Given the description of an element on the screen output the (x, y) to click on. 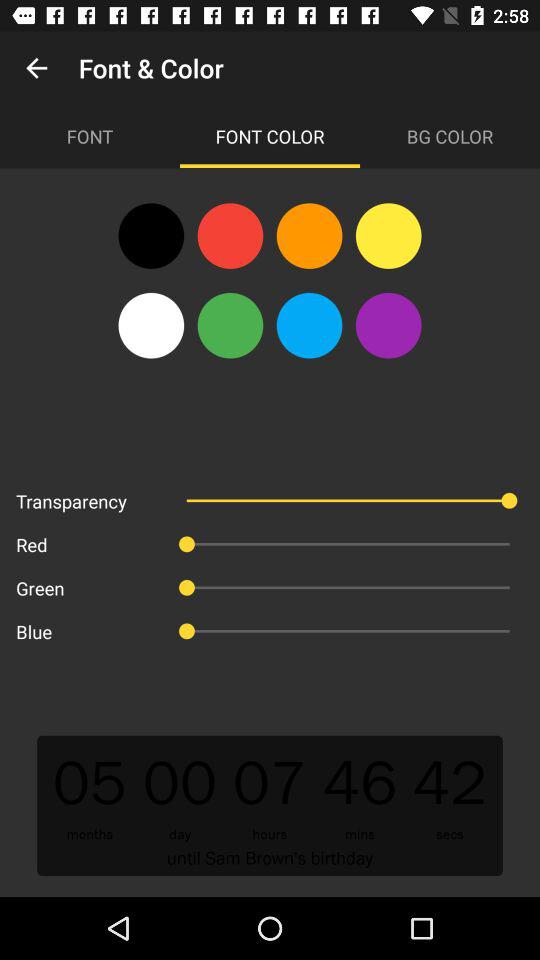
launch the icon above the transparency item (151, 325)
